Given the description of an element on the screen output the (x, y) to click on. 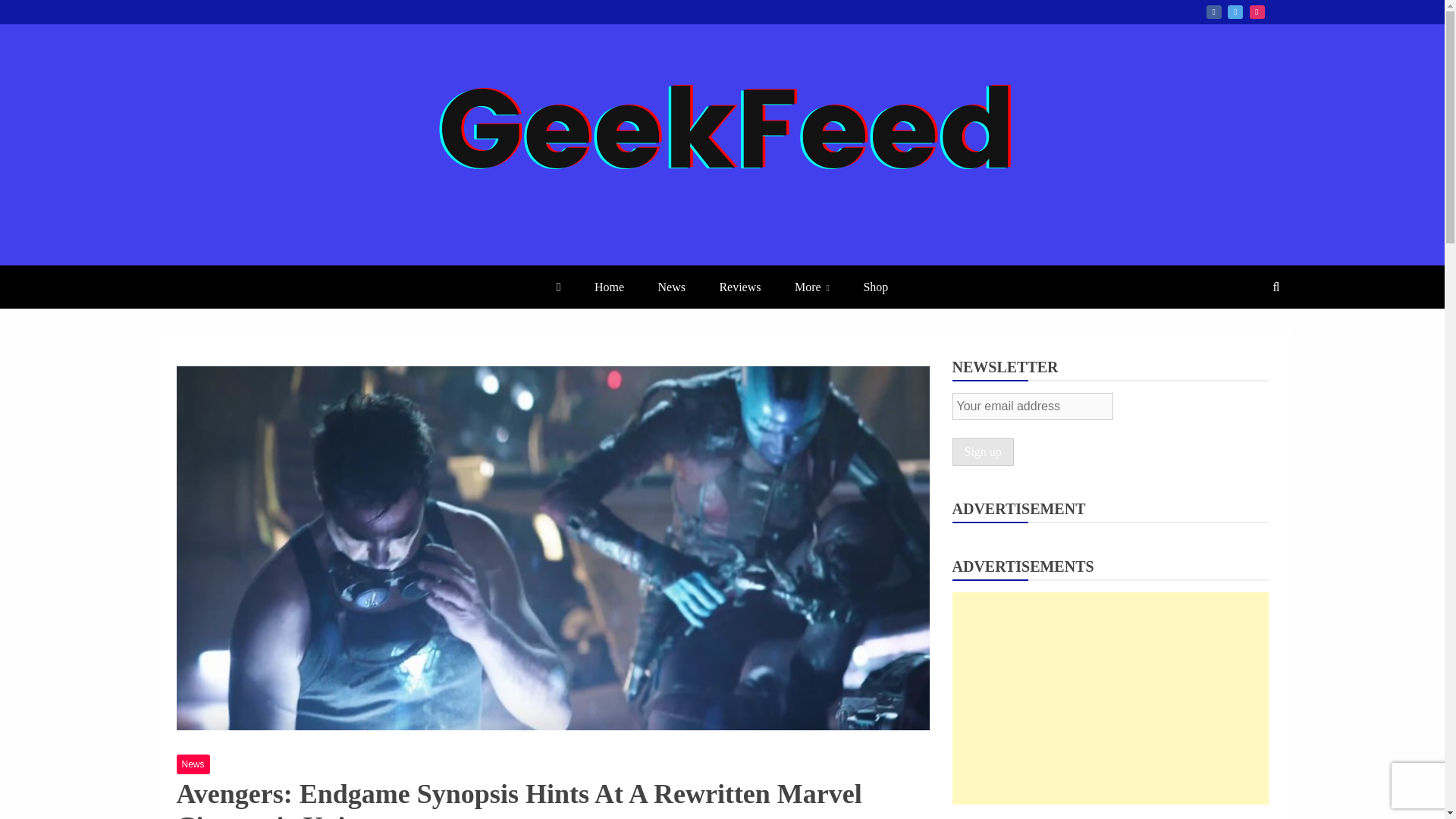
More (811, 286)
Reviews (739, 286)
News (192, 763)
GEEKFEED (264, 263)
Search (31, 13)
Shop (874, 286)
Sign up (982, 452)
News (671, 286)
Instagram (1257, 11)
Advertisement (1110, 698)
Facebook (1214, 11)
Home (609, 286)
Twitter (1235, 11)
